Given the description of an element on the screen output the (x, y) to click on. 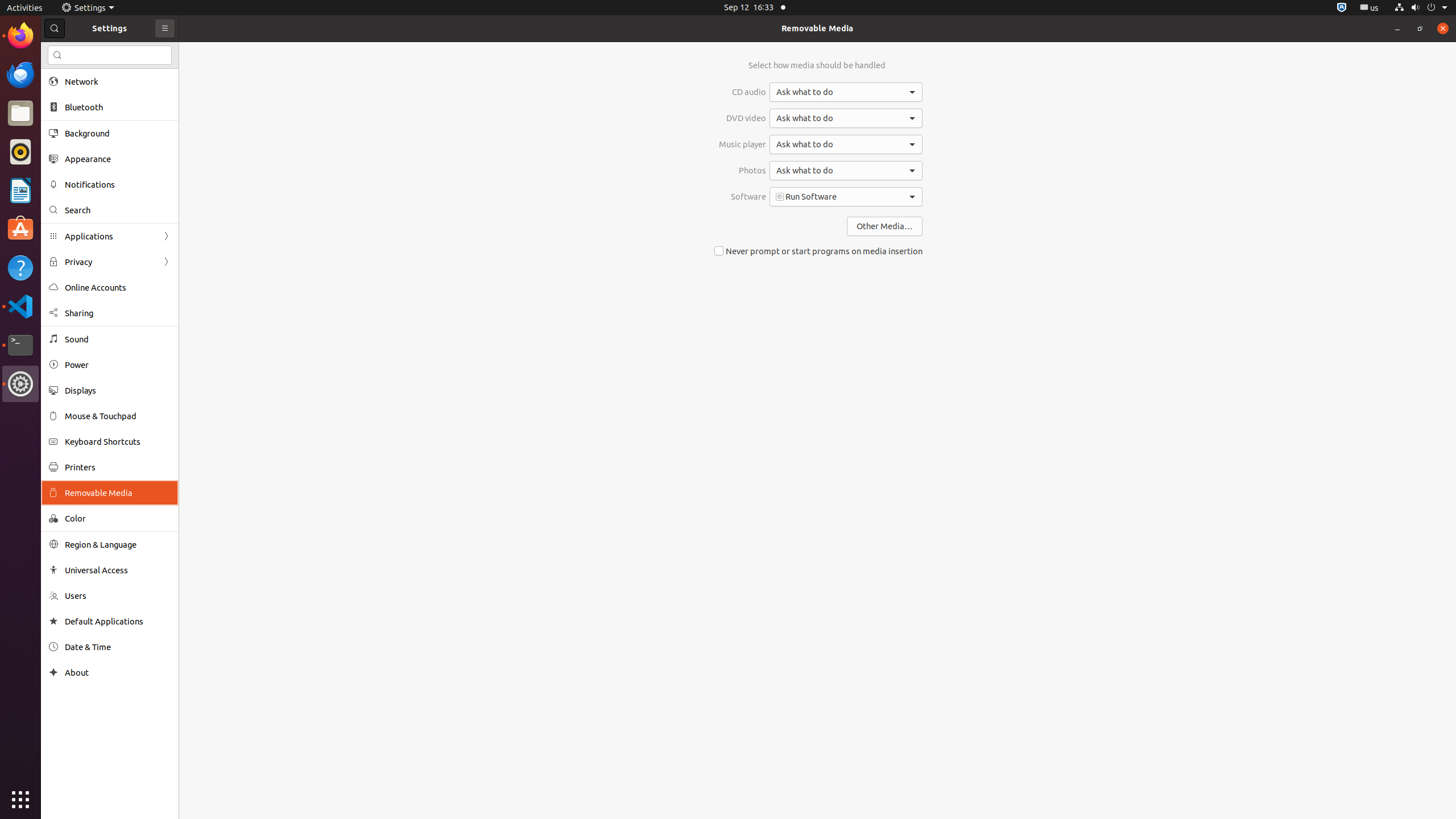
Search Element type: label (117, 209)
Terminal Element type: push-button (20, 344)
Restore Element type: push-button (1419, 27)
About Element type: icon (53, 672)
